Given the description of an element on the screen output the (x, y) to click on. 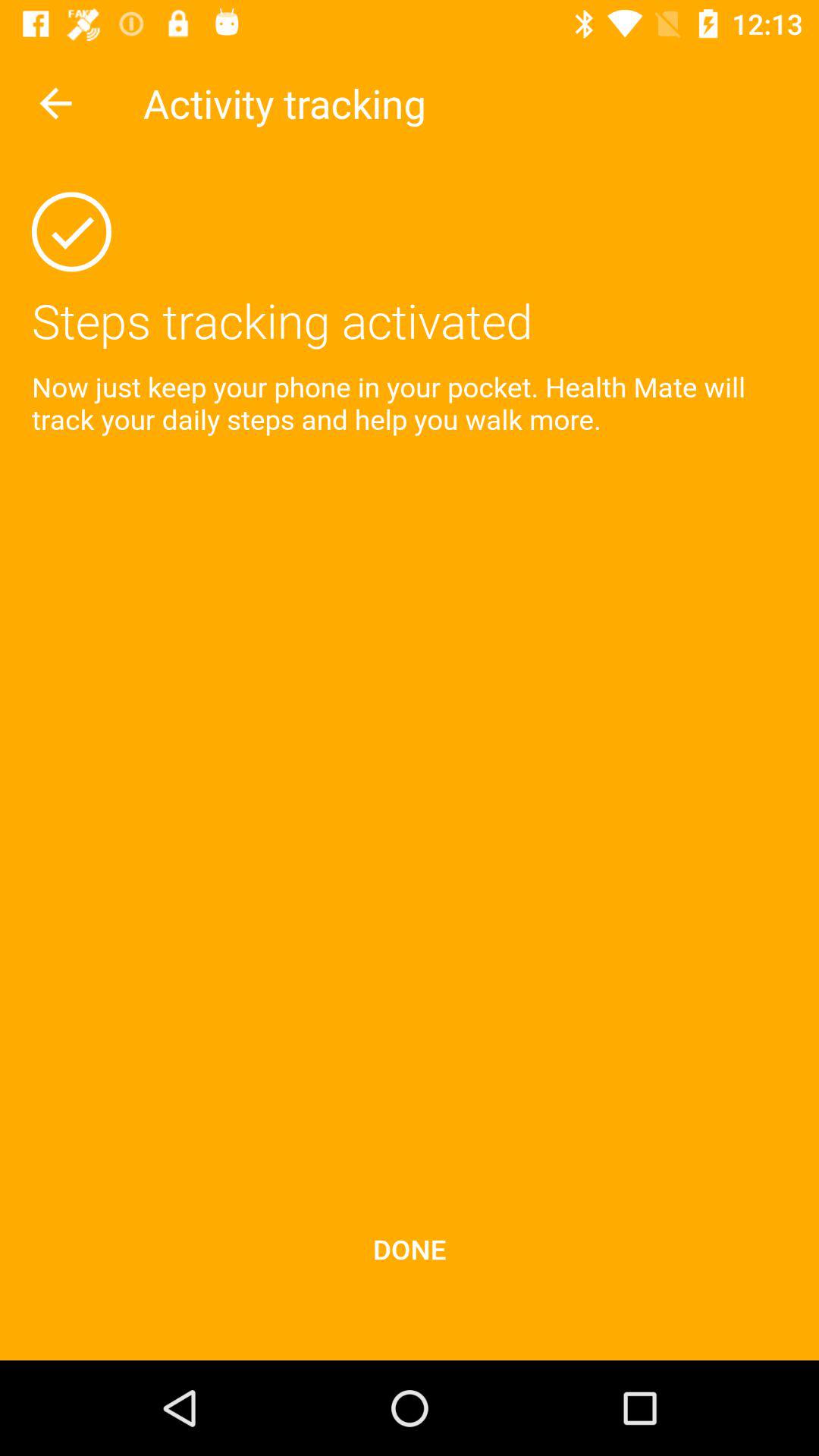
jump to the done item (409, 1248)
